Given the description of an element on the screen output the (x, y) to click on. 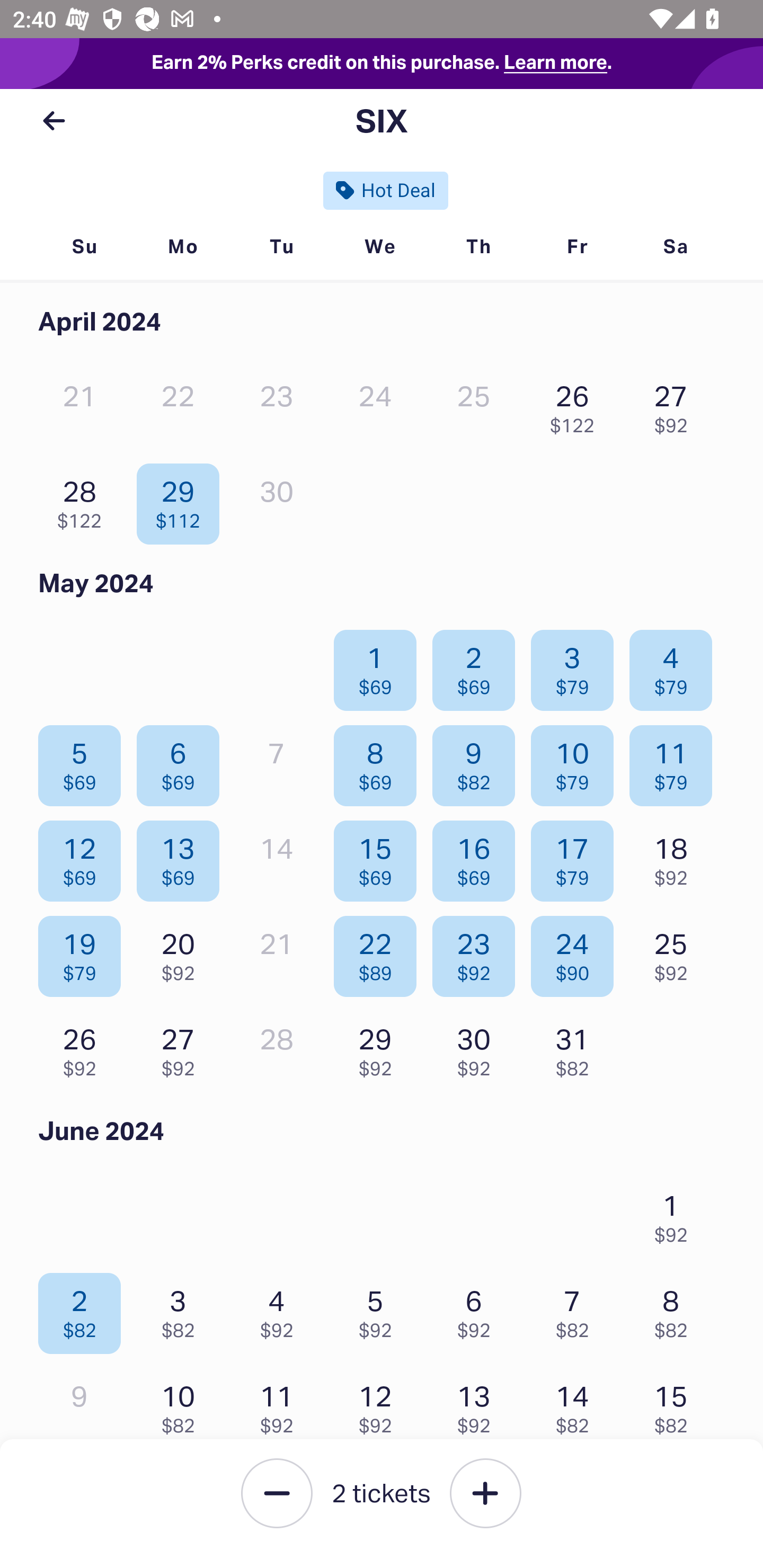
Earn 2% Perks credit on this purchase. Learn more. (381, 63)
back button (53, 120)
Hot Deal (385, 190)
26 $122 (577, 404)
27 $92 (675, 404)
28 $122 (84, 500)
29 $112 (182, 500)
1 $69 (379, 666)
2 $69 (478, 666)
3 $79 (577, 666)
4 $79 (675, 666)
5 $69 (84, 760)
6 $69 (182, 760)
8 $69 (379, 760)
9 $82 (478, 760)
10 $79 (577, 760)
11 $79 (675, 760)
12 $69 (84, 856)
13 $69 (182, 856)
15 $69 (379, 856)
16 $69 (478, 856)
17 $79 (577, 856)
18 $92 (675, 856)
19 $79 (84, 952)
20 $92 (182, 952)
22 $89 (379, 952)
23 $92 (478, 952)
24 $90 (577, 952)
25 $92 (675, 952)
26 $92 (84, 1047)
27 $92 (182, 1047)
29 $92 (379, 1047)
30 $92 (478, 1047)
31 $82 (577, 1047)
1 $92 (675, 1214)
2 $82 (84, 1309)
3 $82 (182, 1309)
4 $92 (281, 1309)
5 $92 (379, 1309)
6 $92 (478, 1309)
7 $82 (577, 1309)
8 $82 (675, 1309)
10 $82 (182, 1404)
11 $92 (281, 1404)
12 $92 (379, 1404)
13 $92 (478, 1404)
14 $82 (577, 1404)
15 $82 (675, 1404)
18 $92 (281, 1499)
20 $92 (478, 1499)
